Given the description of an element on the screen output the (x, y) to click on. 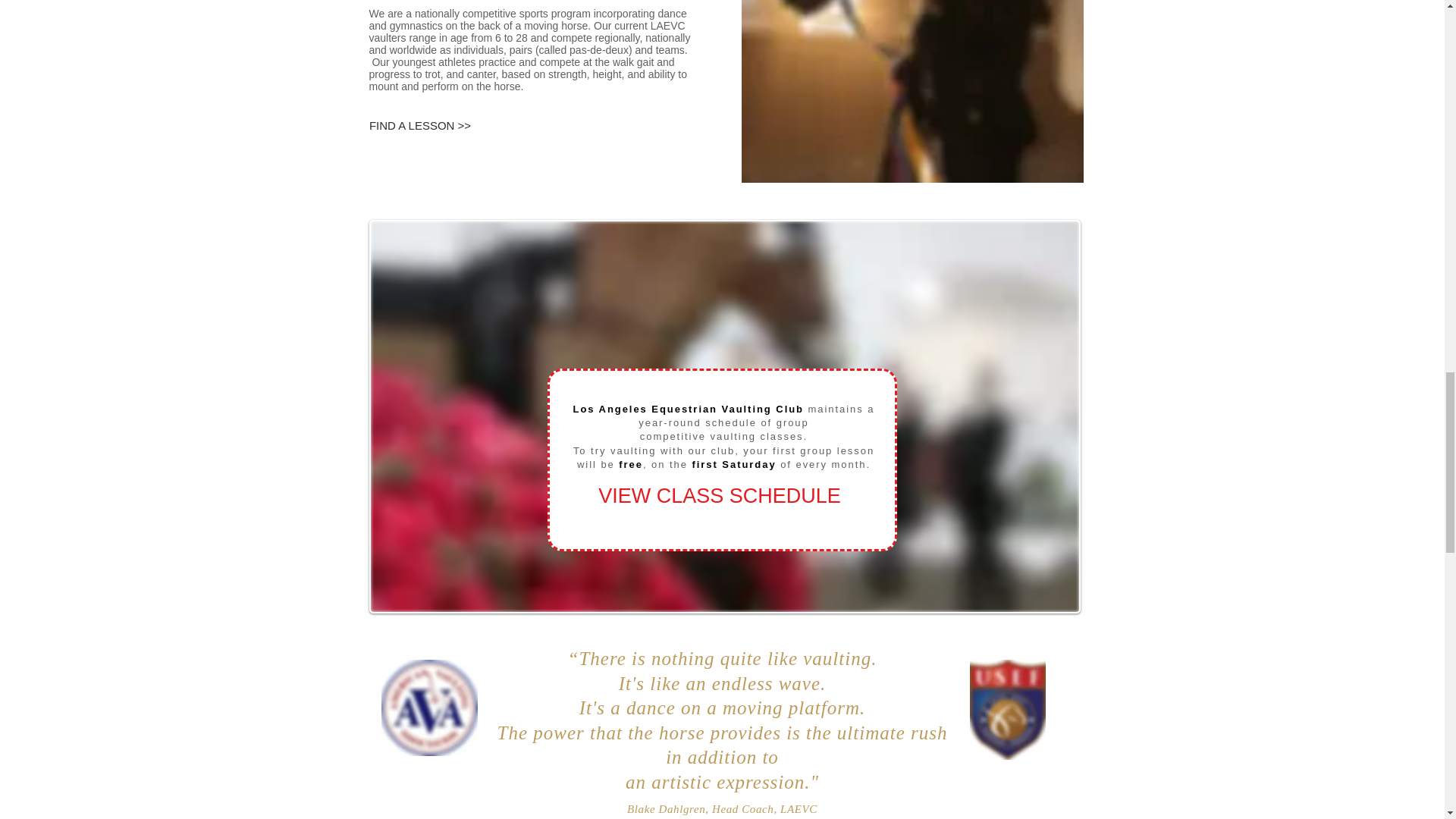
VIEW CLASS SCHEDULE (718, 496)
